Given the description of an element on the screen output the (x, y) to click on. 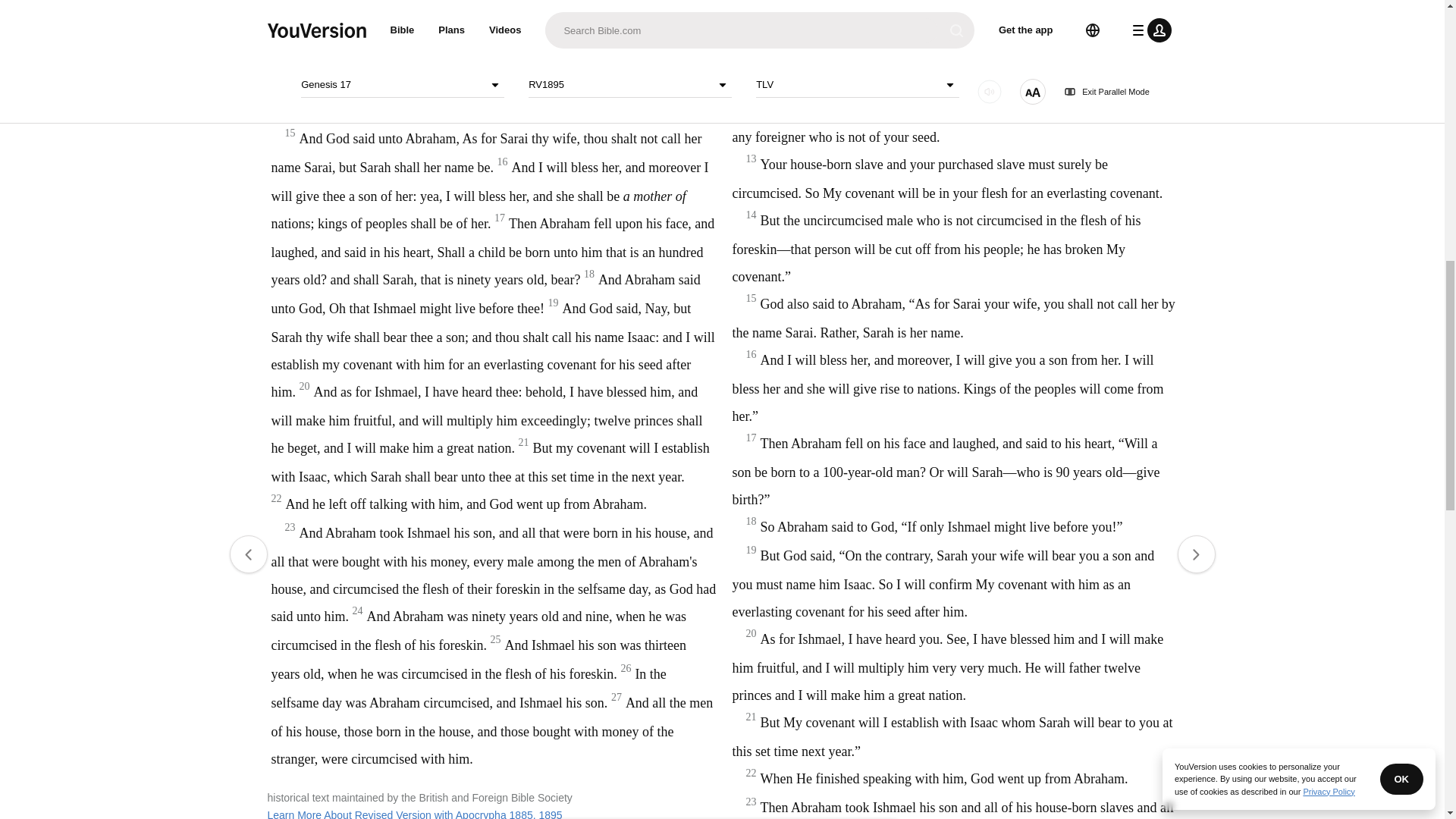
Sign up or sign in (774, 245)
Learn More About Revised Version with Apocrypha 1885, 1895 (414, 814)
Genesis 17: RV1895 (630, 47)
: (599, 47)
